Given the description of an element on the screen output the (x, y) to click on. 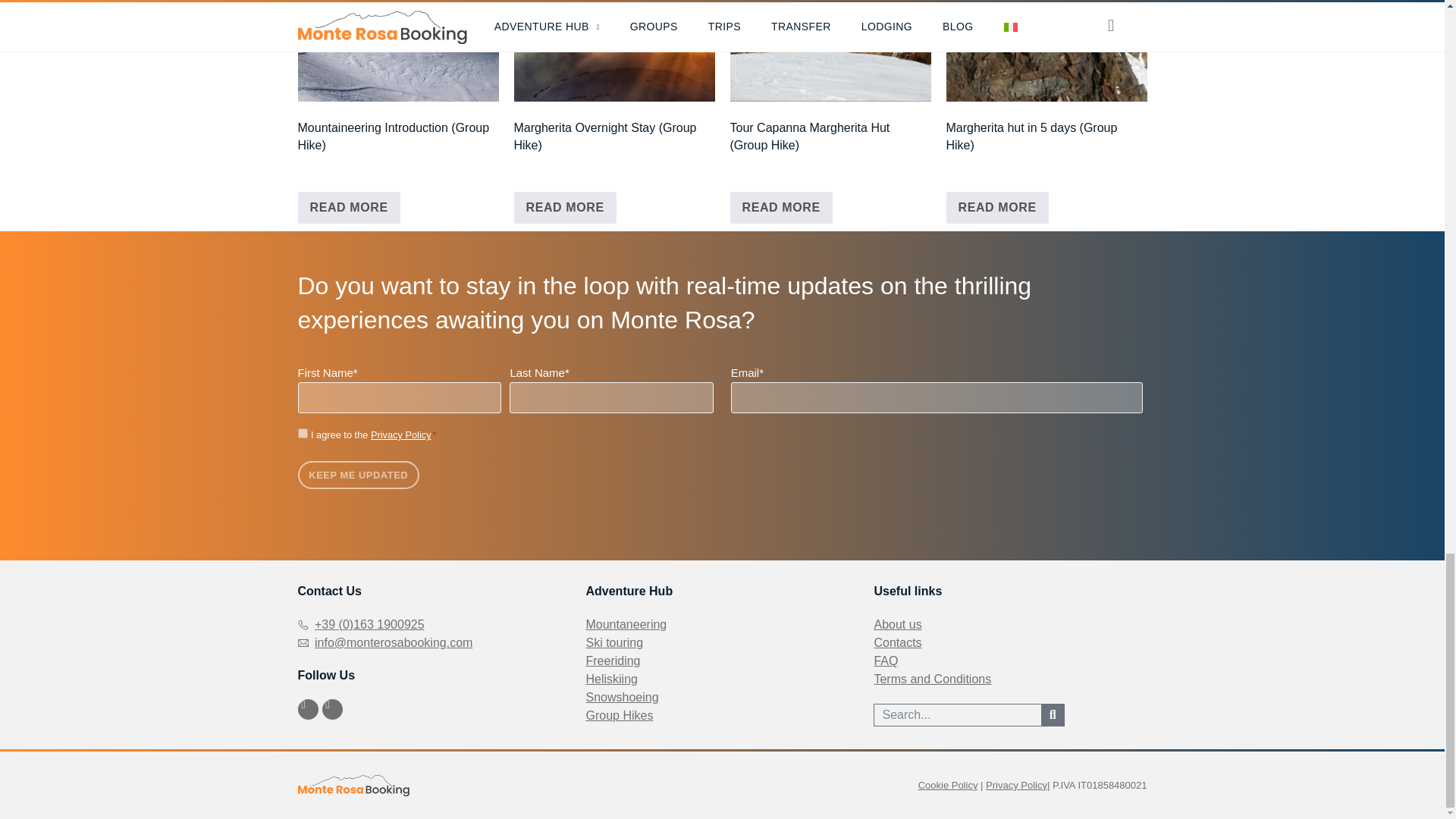
Keep me updated (358, 475)
1 (302, 433)
